Given the description of an element on the screen output the (x, y) to click on. 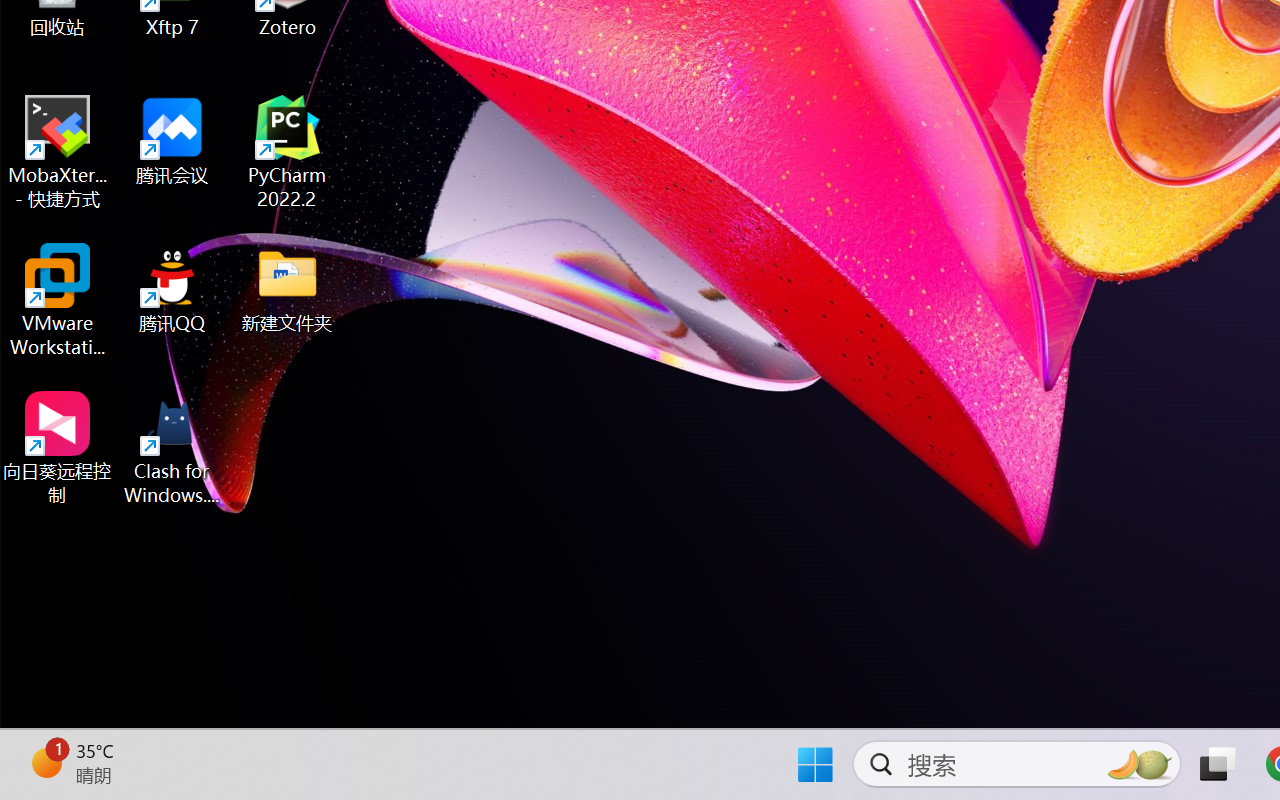
VMware Workstation Pro (57, 300)
PyCharm 2022.2 (287, 152)
